Given the description of an element on the screen output the (x, y) to click on. 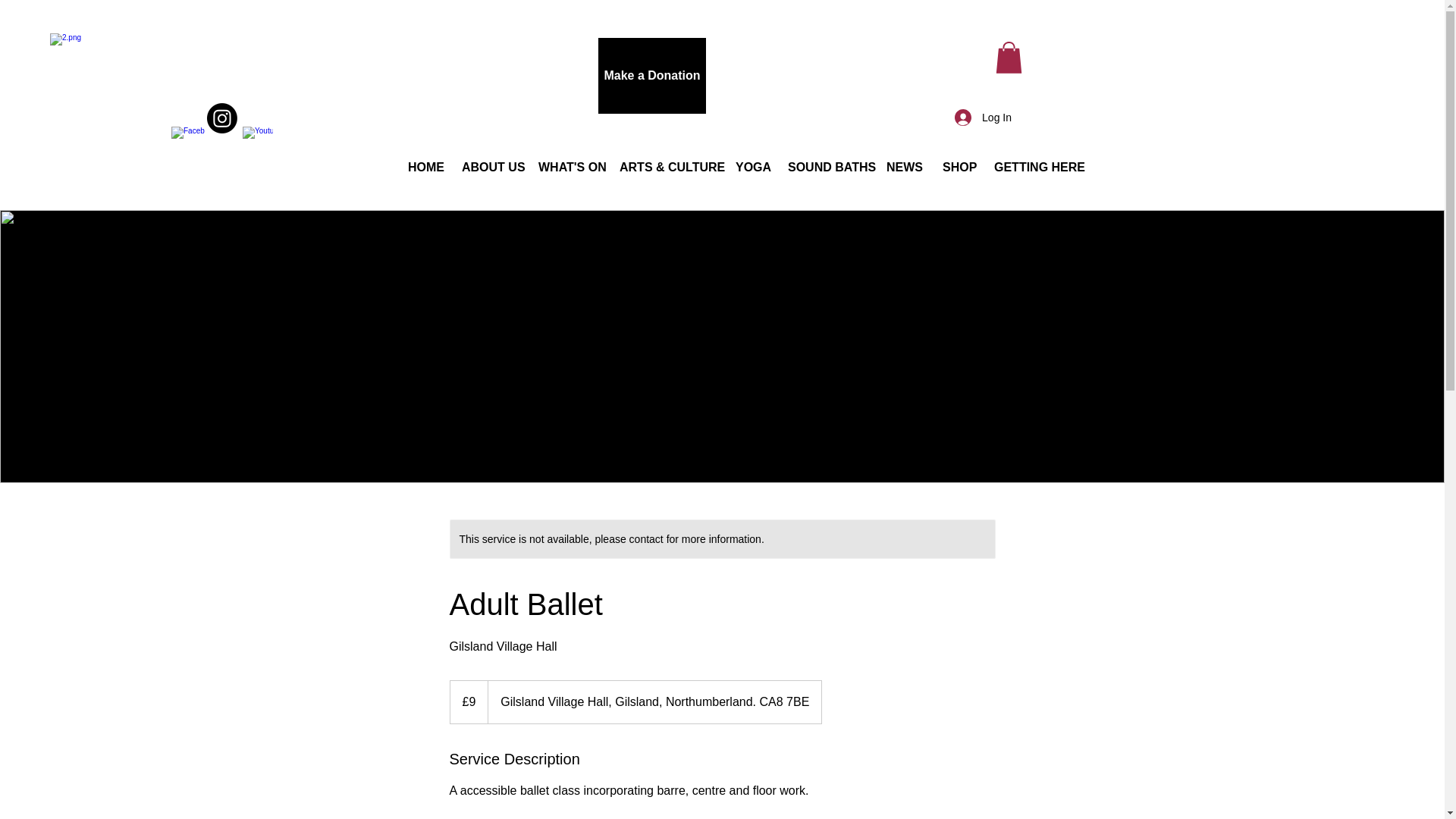
Make a Donation (652, 75)
SOUND BATHS (825, 167)
GETTING HERE (1034, 167)
WHAT'S ON (567, 167)
NEWS (903, 167)
SHOP (956, 167)
ABOUT US (488, 167)
Log In (982, 117)
HOME (422, 167)
YOGA (749, 167)
